Given the description of an element on the screen output the (x, y) to click on. 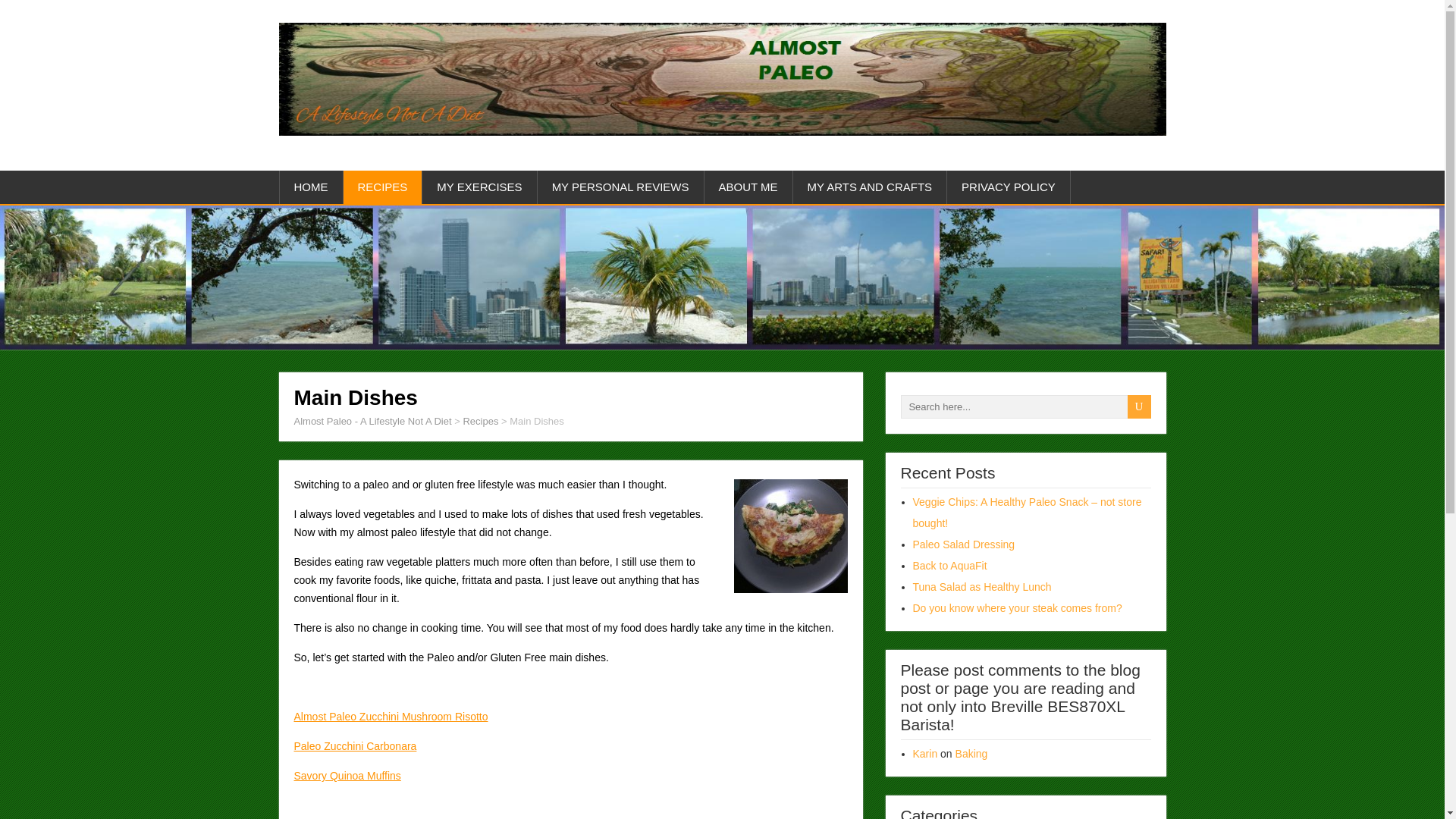
Go to Recipes. (480, 420)
MY PERSONAL REVIEWS (620, 186)
Go to Almost Paleo - A Lifestyle Not A Diet. (372, 420)
Paleo Zucchini Carbonara (355, 746)
HOME (310, 186)
MY EXERCISES (479, 186)
ABOUT ME (748, 186)
MY ARTS AND CRAFTS (870, 186)
Savory Quinoa Muffins (347, 775)
RECIPES (382, 186)
Almost Paleo Zucchini Mushroom Risotto (390, 716)
U (1138, 406)
Almost Paleo - A Lifestyle Not A Diet (372, 420)
PRIVACY POLICY (1008, 186)
Paleo Spinach Omelet by almostpaleo.org (790, 535)
